Given the description of an element on the screen output the (x, y) to click on. 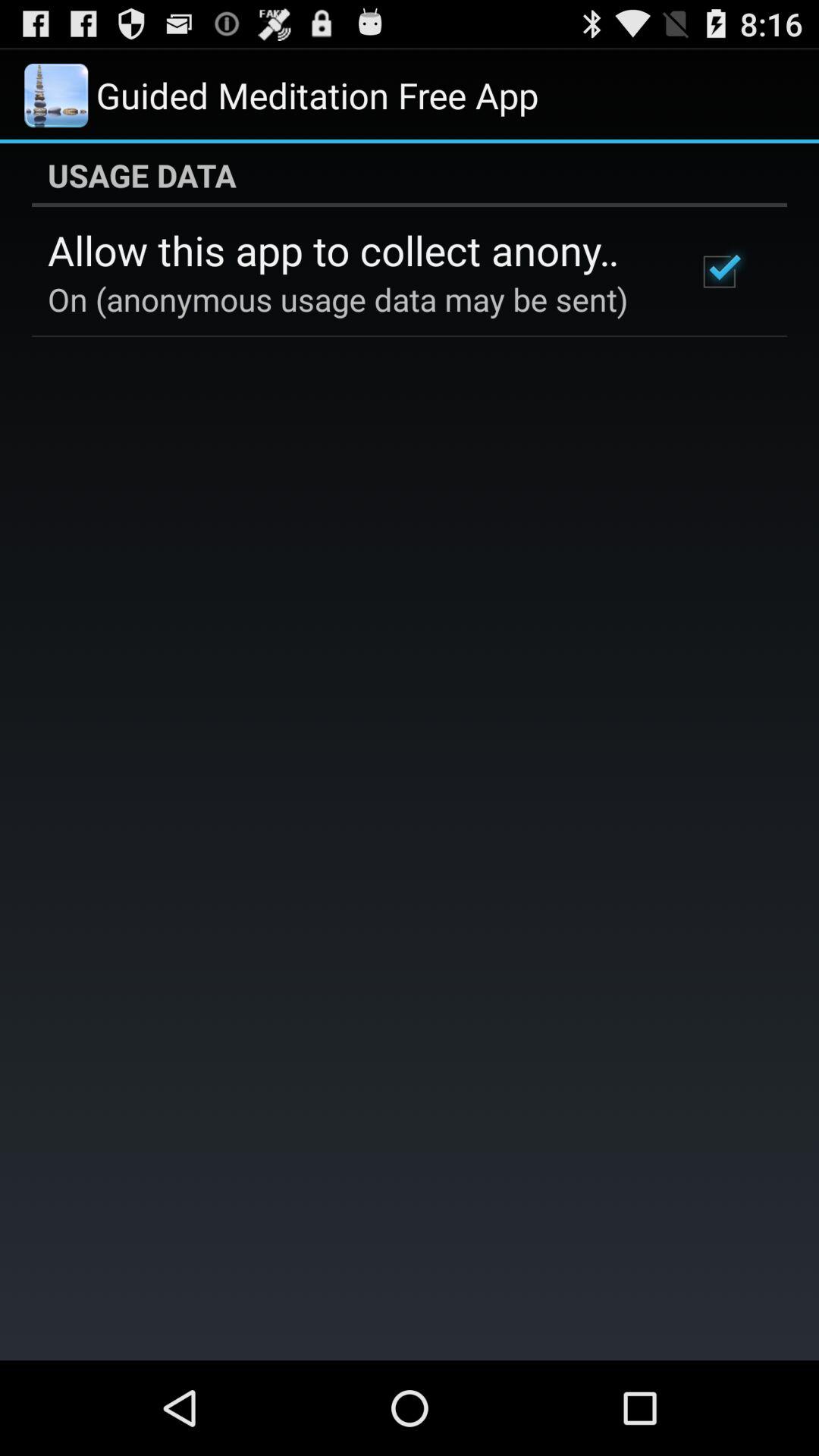
swipe until the allow this app item (351, 249)
